Given the description of an element on the screen output the (x, y) to click on. 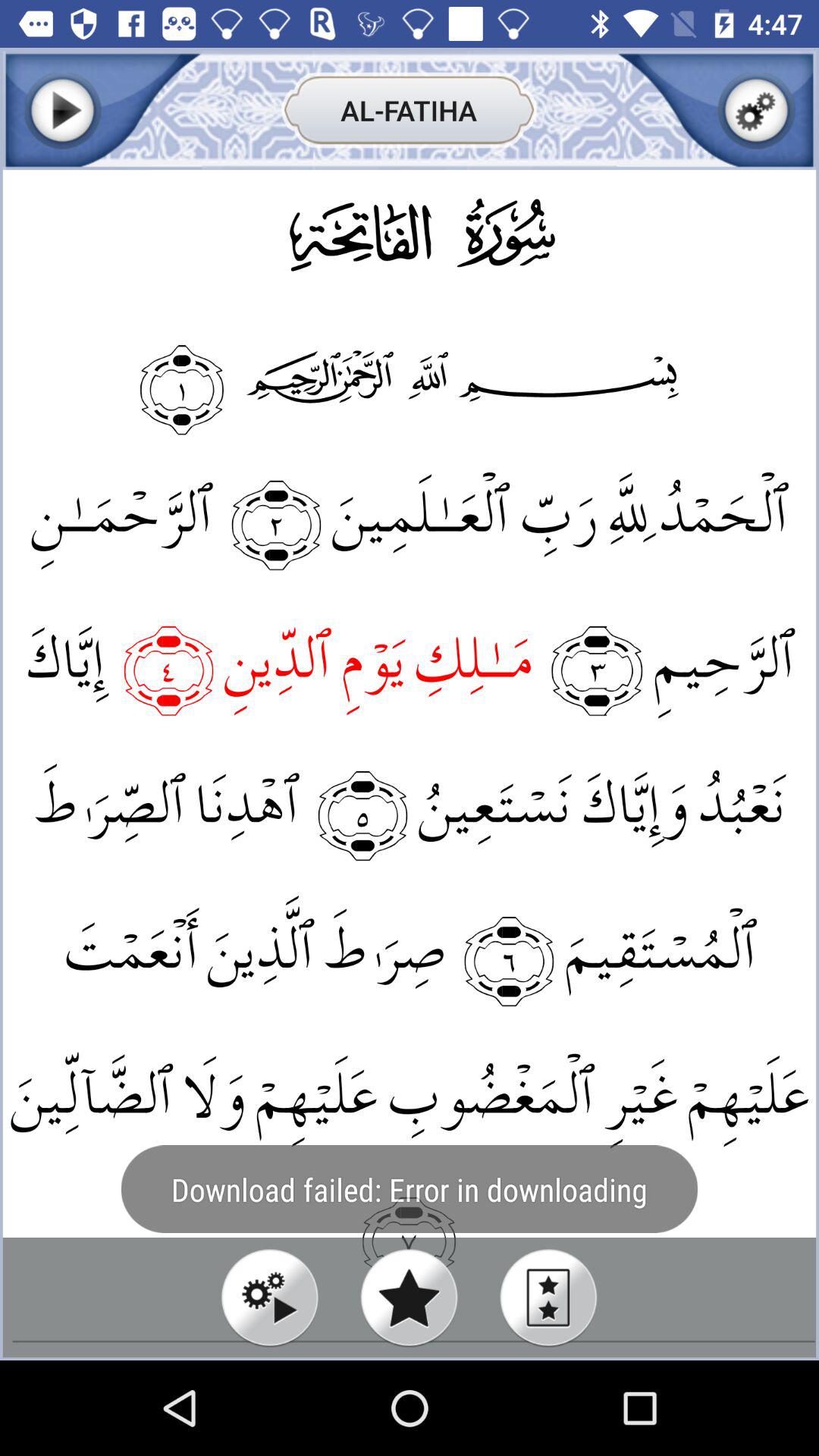
settings (756, 110)
